Given the description of an element on the screen output the (x, y) to click on. 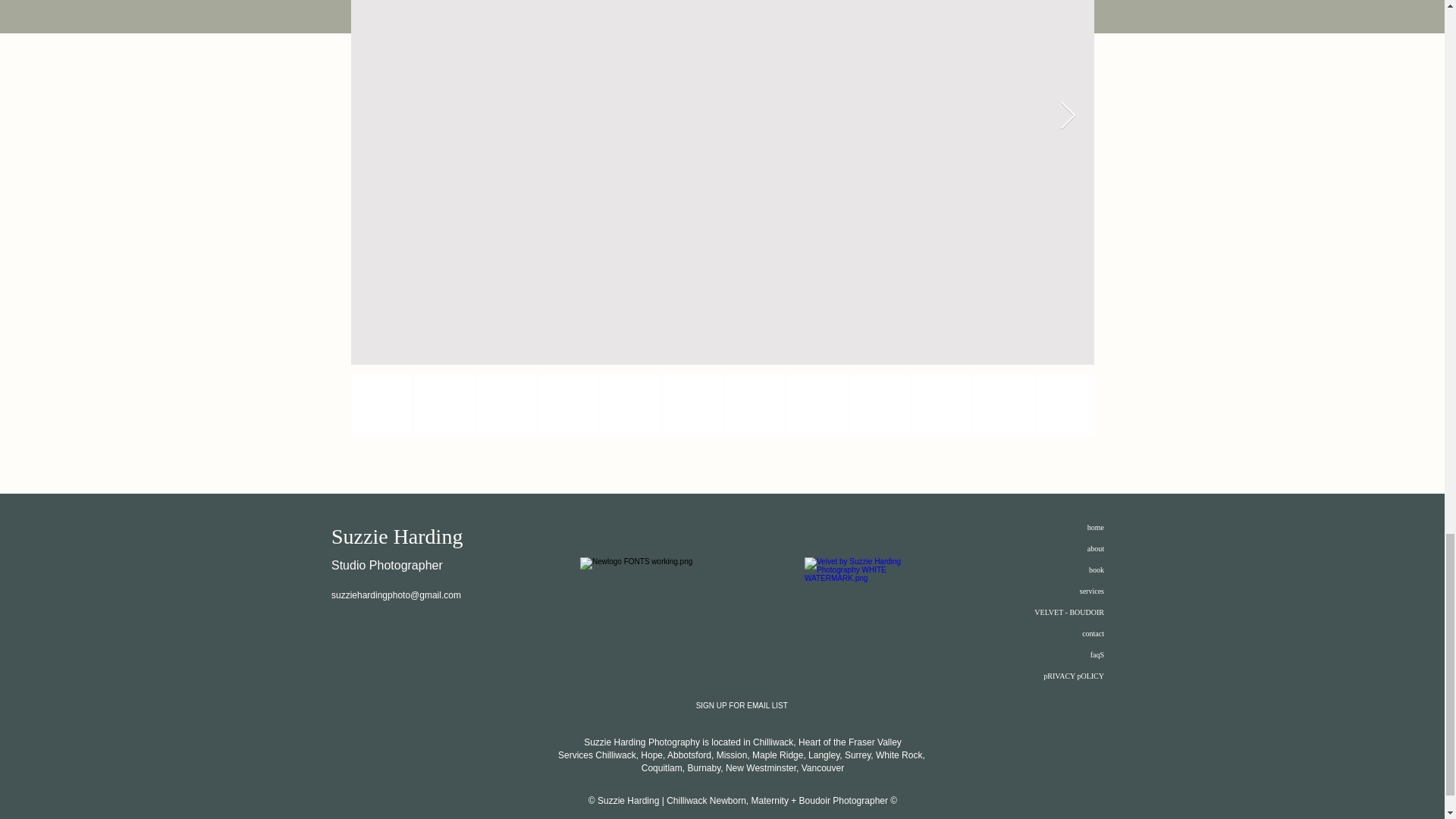
faqS (1096, 654)
SIGN UP FOR EMAIL LIST (741, 705)
VELVET - BOUDOIR (1068, 612)
about (1095, 548)
services (1091, 591)
home (1095, 527)
pRIVACY pOLICY (1073, 675)
contact (1092, 633)
book (1096, 569)
